Given the description of an element on the screen output the (x, y) to click on. 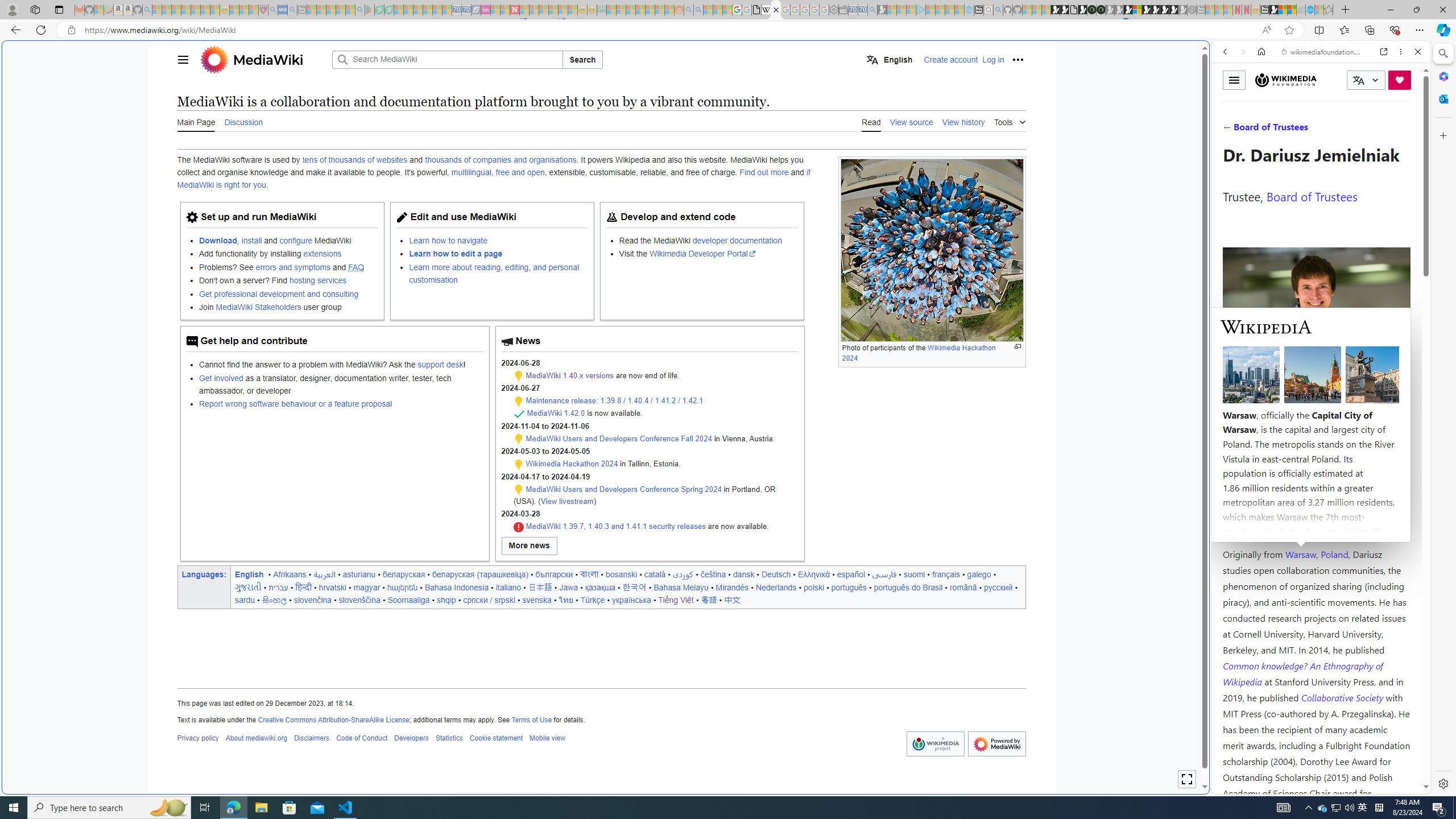
Search or enter web address (922, 108)
Earth has six continents not seven, radical new study claims (1291, 9)
utah sues federal government - Search - Sleeping (291, 9)
Privacy policy (197, 738)
Powered by MediaWiki (996, 743)
github - Search - Sleeping (997, 9)
errors and symptoms (292, 266)
Home | Sky Blue Bikes - Sky Blue Bikes (1118, 242)
Sign in to your account (1137, 9)
Code of Conduct (360, 738)
